Given the description of an element on the screen output the (x, y) to click on. 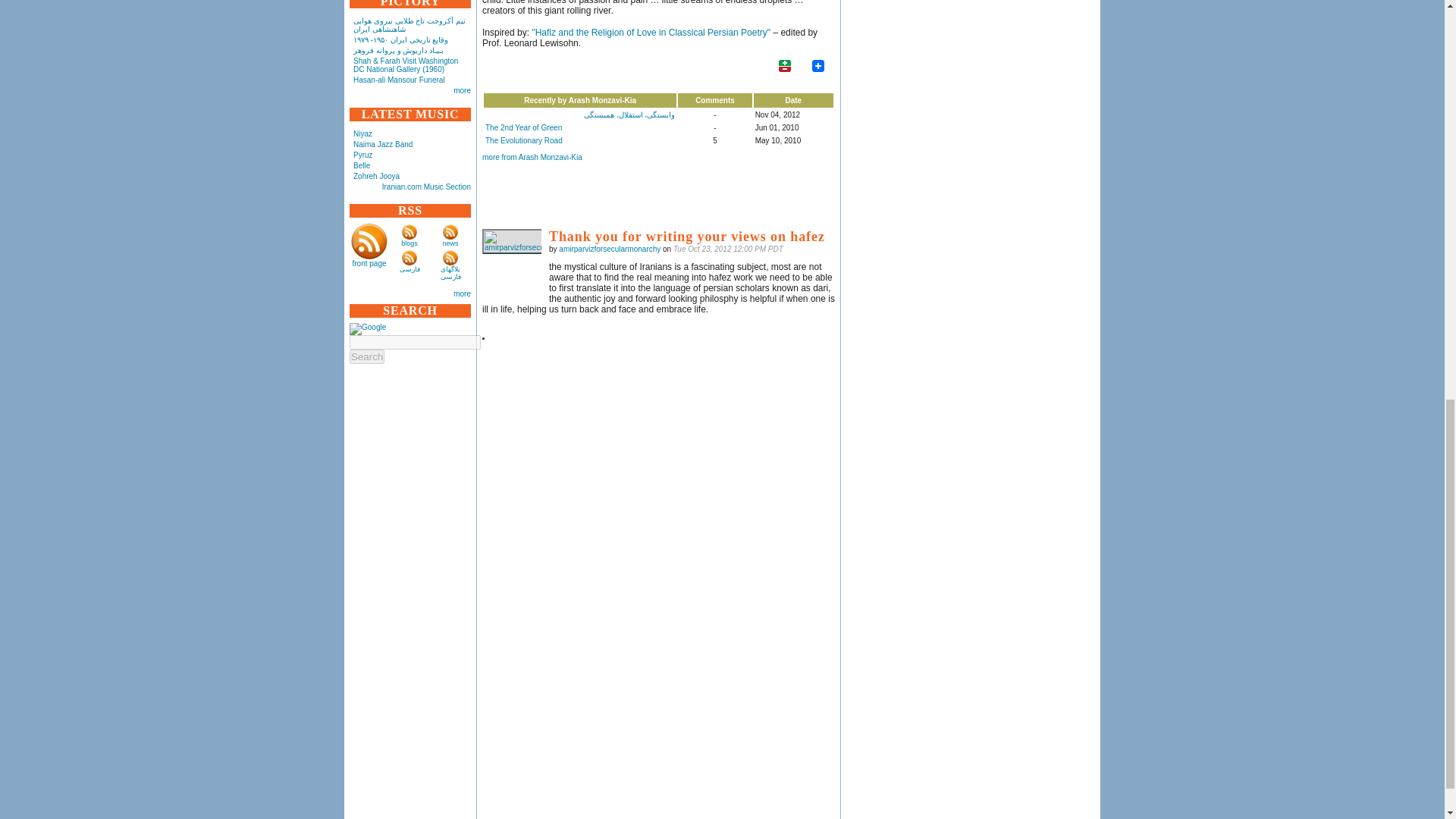
Zohreh Jooya (375, 175)
Pyruz (362, 154)
more (461, 90)
Niyaz (362, 133)
Belle (361, 165)
news (450, 243)
Hasan-ali Mansour Funeral (399, 80)
Iranian.com Music Section (425, 186)
front page (368, 263)
View user profile. (610, 248)
